Given the description of an element on the screen output the (x, y) to click on. 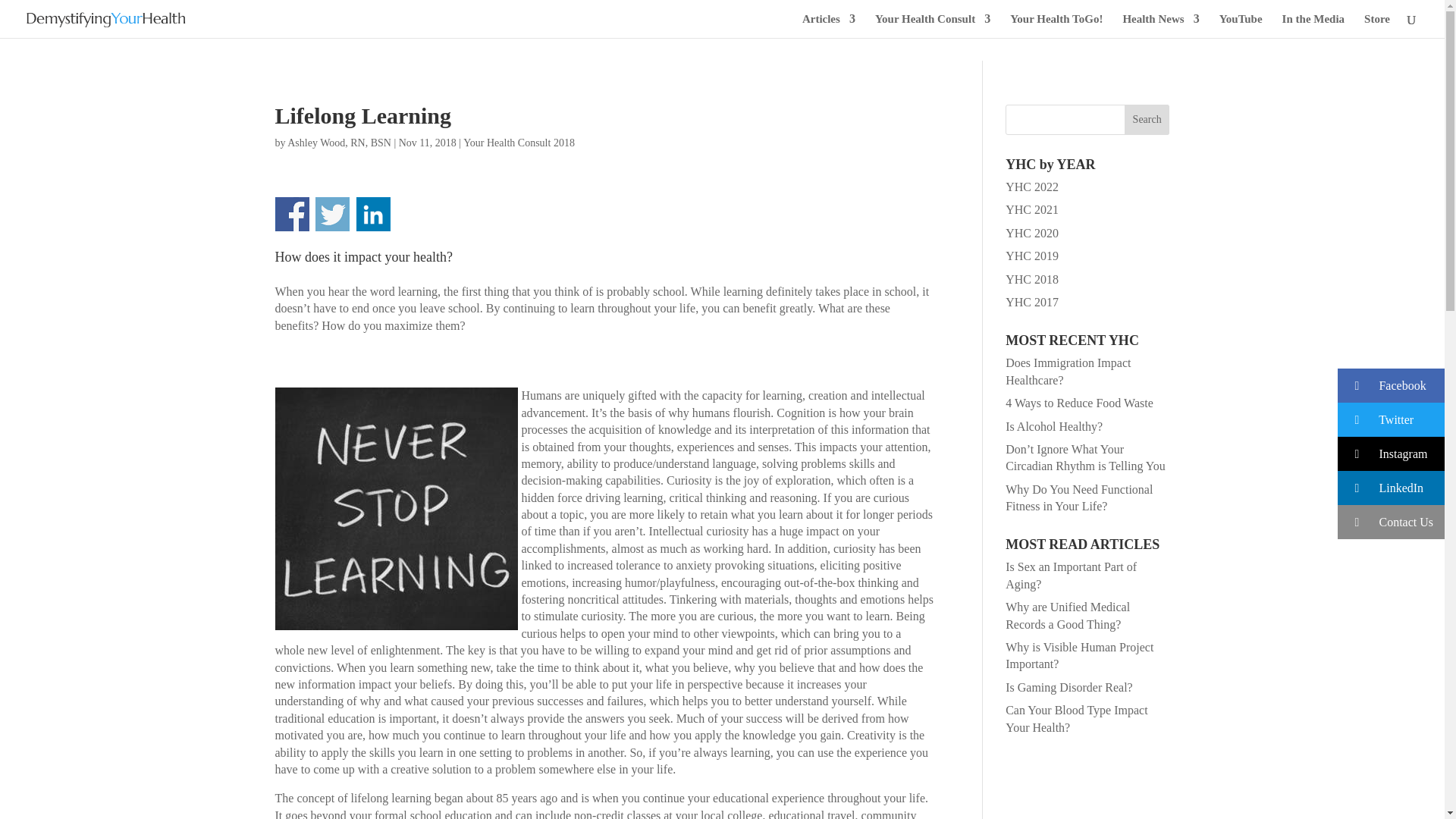
Share on Facebook (291, 213)
YHC 2022 (1032, 186)
Search (1147, 119)
Ashley Wood, RN, BSN (338, 142)
Your Health Consult 2018 (519, 142)
YHC 2018 (1032, 278)
Share on Twitter (332, 213)
Articles (829, 25)
Share on Linkedin (373, 213)
Health News (1160, 25)
